Given the description of an element on the screen output the (x, y) to click on. 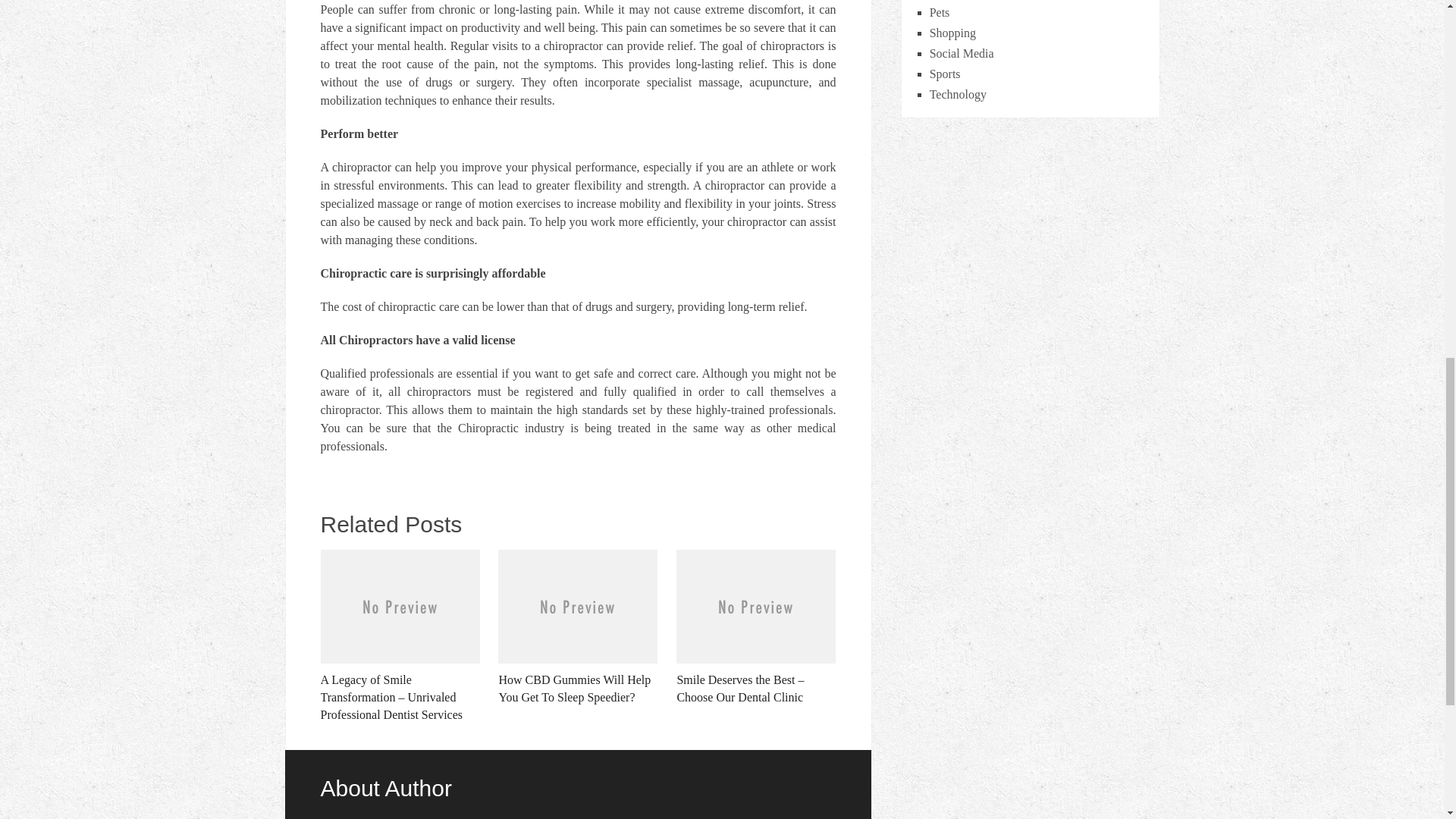
Technology (958, 93)
Pets (940, 11)
How CBD Gummies Will Help You Get To Sleep Speedier? (577, 627)
Social Media (962, 52)
Sports (945, 73)
Shopping (952, 32)
How CBD Gummies Will Help You Get To Sleep Speedier? (577, 627)
